Given the description of an element on the screen output the (x, y) to click on. 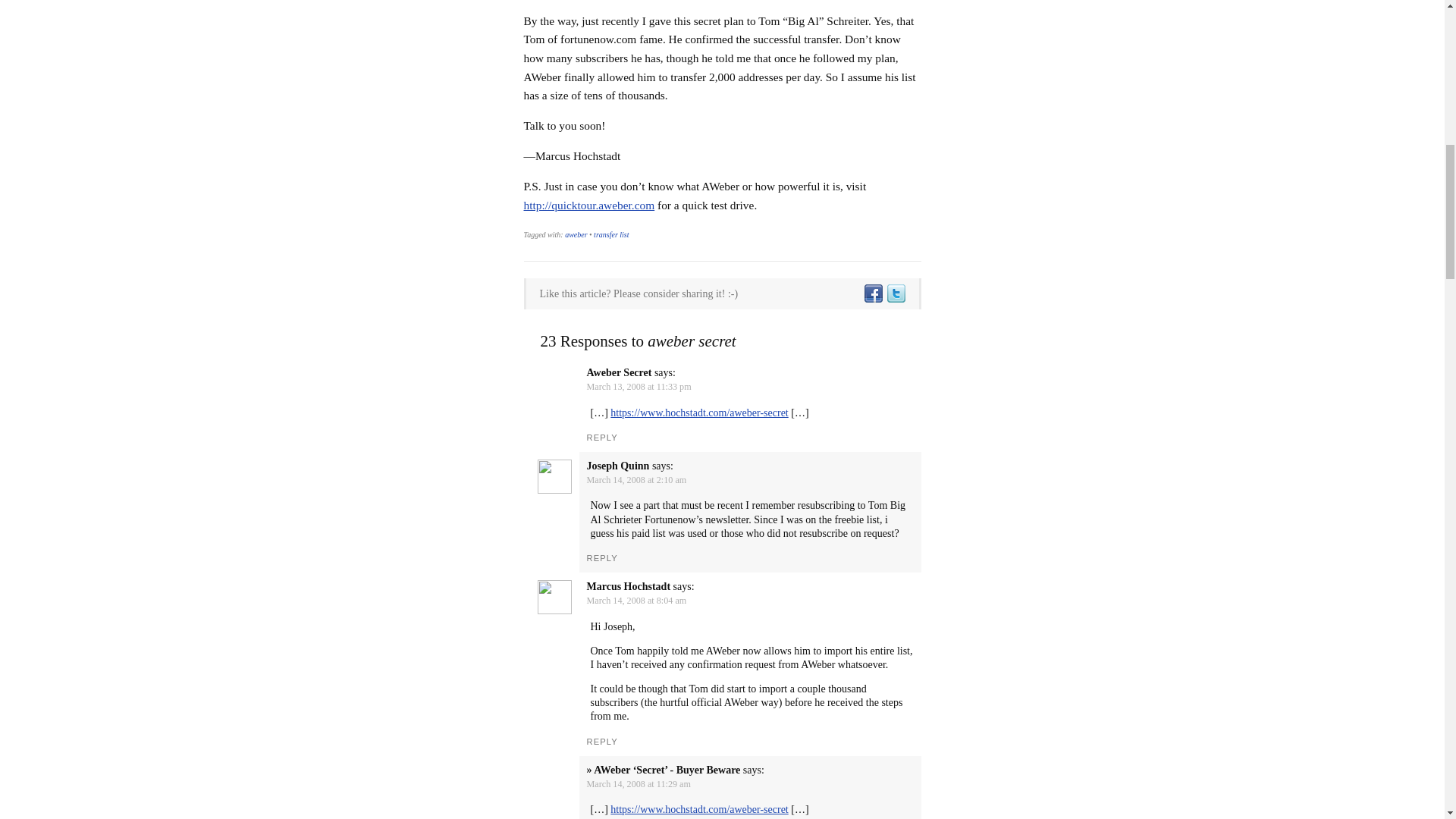
March 14, 2008 at 8:04 am (636, 600)
REPLY (601, 557)
aweber (575, 234)
March 13, 2008 at 11:33 pm (638, 386)
REPLY (601, 437)
AWeber test drive (587, 205)
Marcus Hochstadt (628, 586)
Aweber Secret (619, 372)
Share on Facebook (872, 293)
REPLY (601, 741)
